Given the description of an element on the screen output the (x, y) to click on. 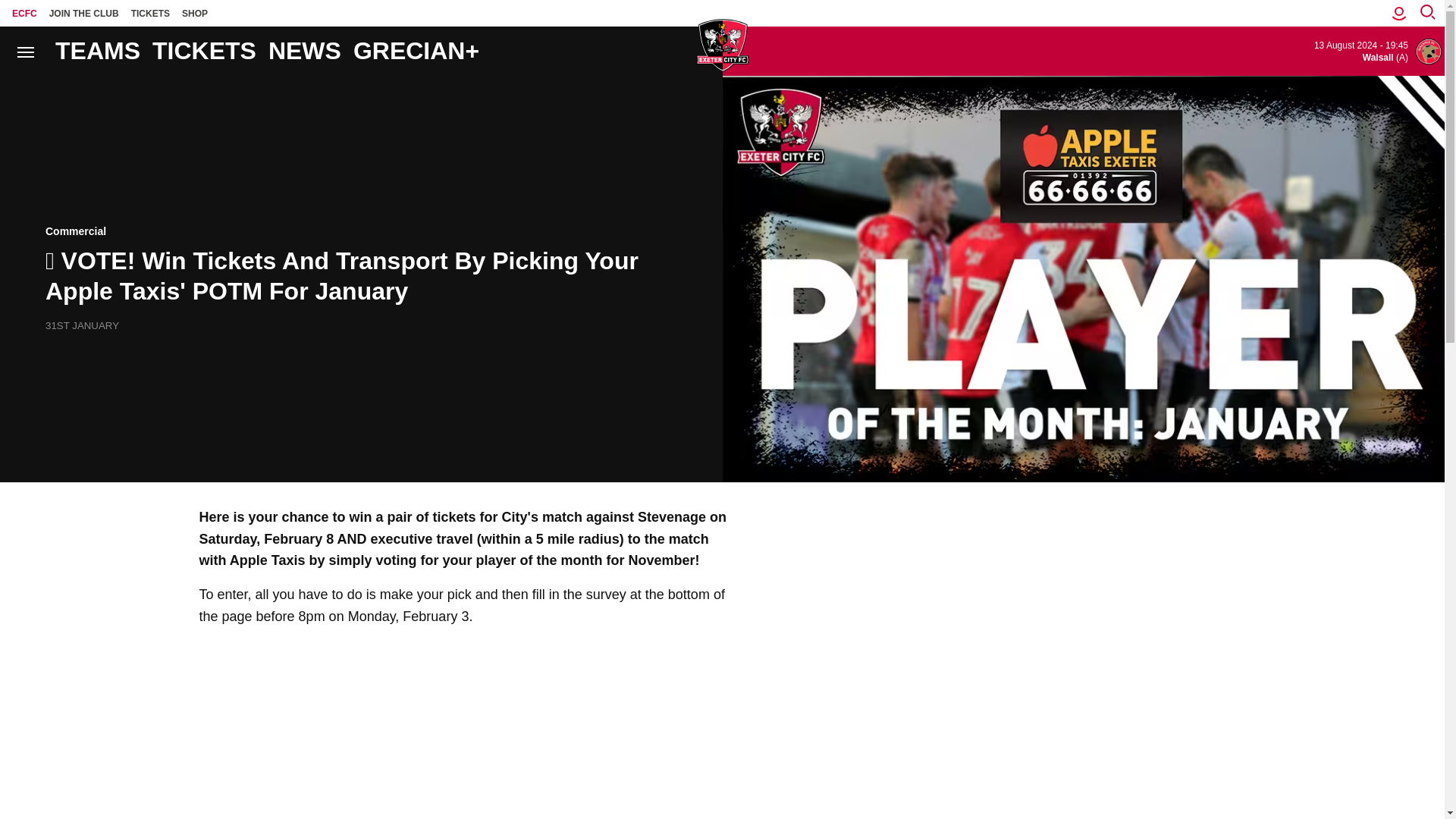
JOIN THE CLUB (84, 13)
TICKETS (150, 13)
SHOP (195, 13)
ECFC (24, 13)
